Given the description of an element on the screen output the (x, y) to click on. 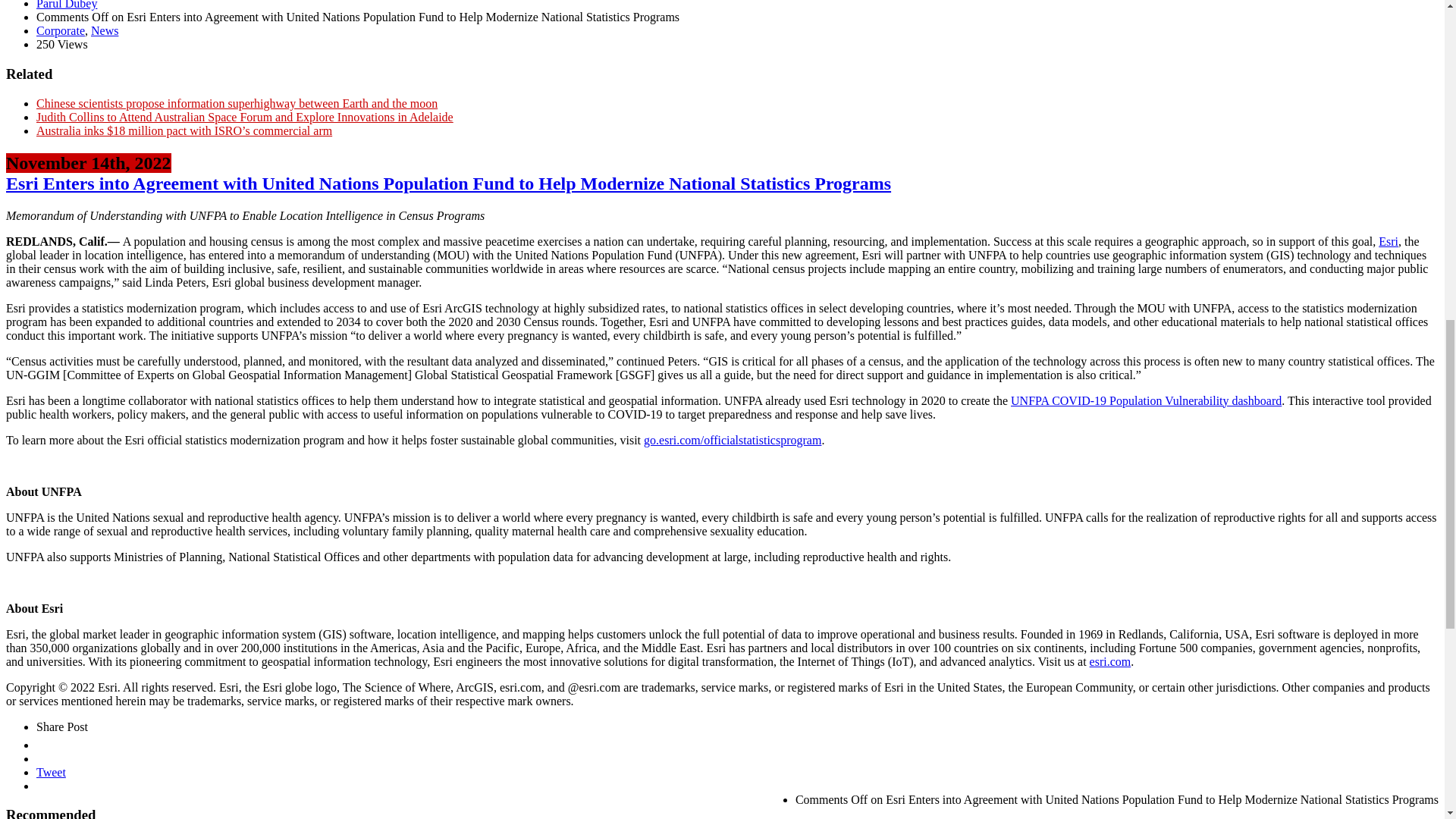
Posts by Parul Dubey (66, 4)
